Given the description of an element on the screen output the (x, y) to click on. 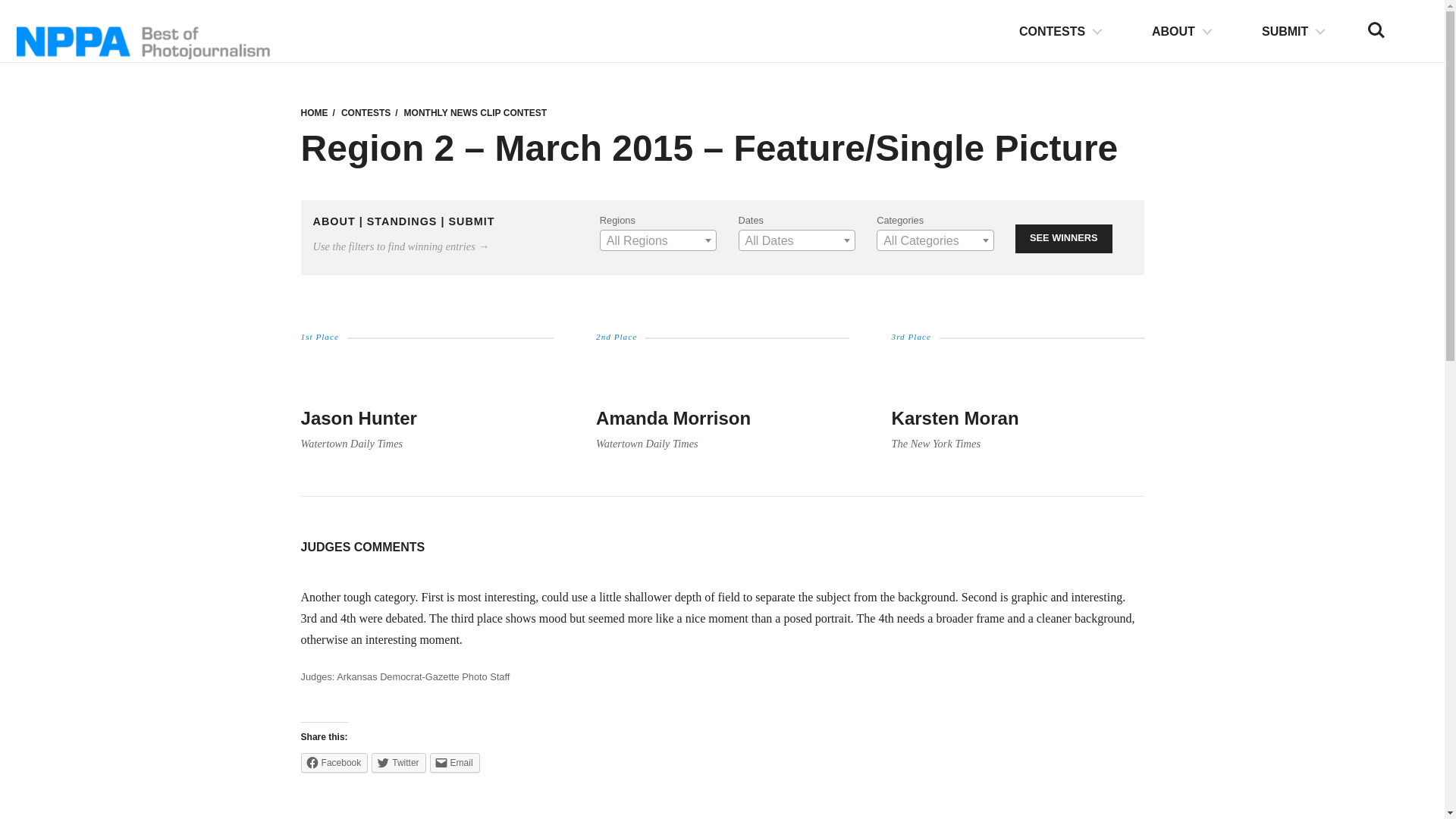
ABOUT (1180, 31)
Will Foote on skis (426, 373)
Click to email this to a friend (454, 762)
Luck vs. Skill: Minute to Win It (721, 373)
Click to share on Facebook (333, 762)
CONTESTS (1059, 31)
Monthly News Clip Contest (474, 112)
NPPA Contests (313, 112)
Adele Sarno (1017, 373)
NPPA Contests Contests (365, 112)
